Given the description of an element on the screen output the (x, y) to click on. 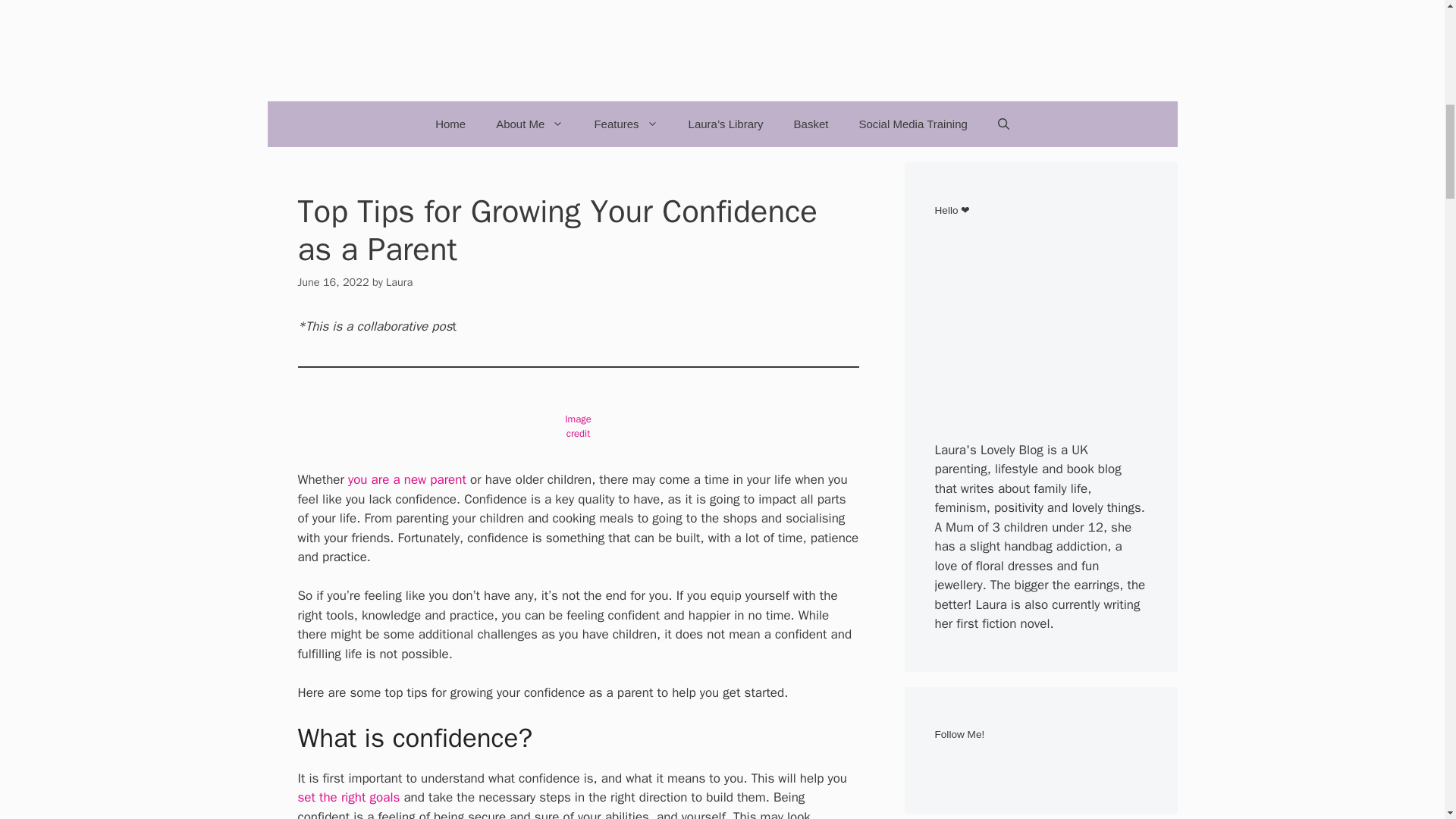
you are a new parent (406, 479)
View all posts by Laura (398, 282)
Social Media Training (912, 124)
Laura (398, 282)
Basket (811, 124)
About Me (529, 124)
Image credit (577, 426)
Home (450, 124)
set the right goals (347, 797)
Features (625, 124)
